Given the description of an element on the screen output the (x, y) to click on. 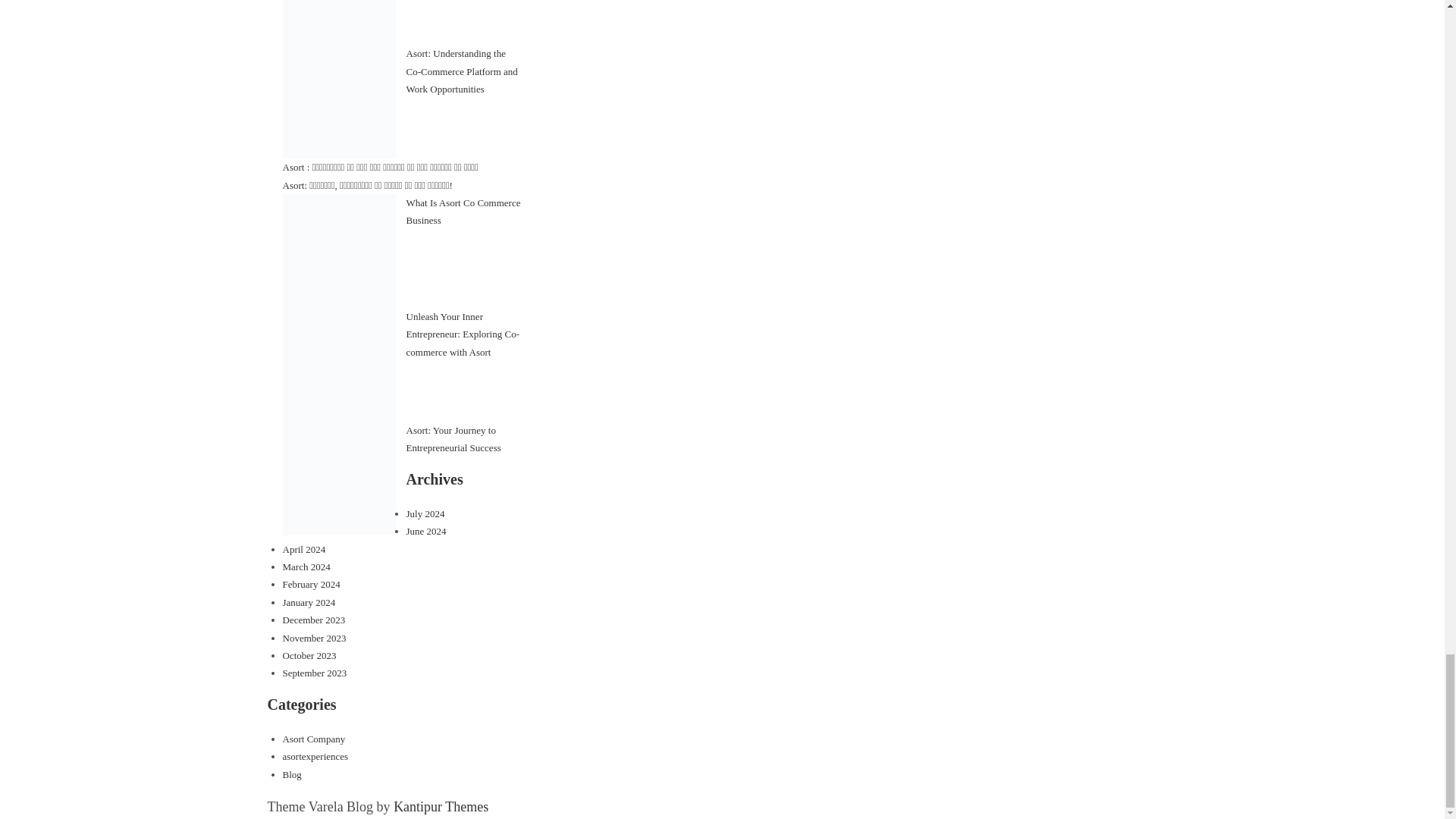
January 2024 (308, 602)
October 2023 (309, 655)
March 2024 (306, 566)
What Is Asort Co Commerce Business (463, 211)
February 2024 (310, 583)
April 2024 (303, 549)
June 2024 (426, 531)
December 2023 (313, 619)
November 2023 (314, 637)
July 2024 (425, 513)
September 2023 (314, 672)
Asort: Your Journey to Entrepreneurial Success (453, 439)
